Given the description of an element on the screen output the (x, y) to click on. 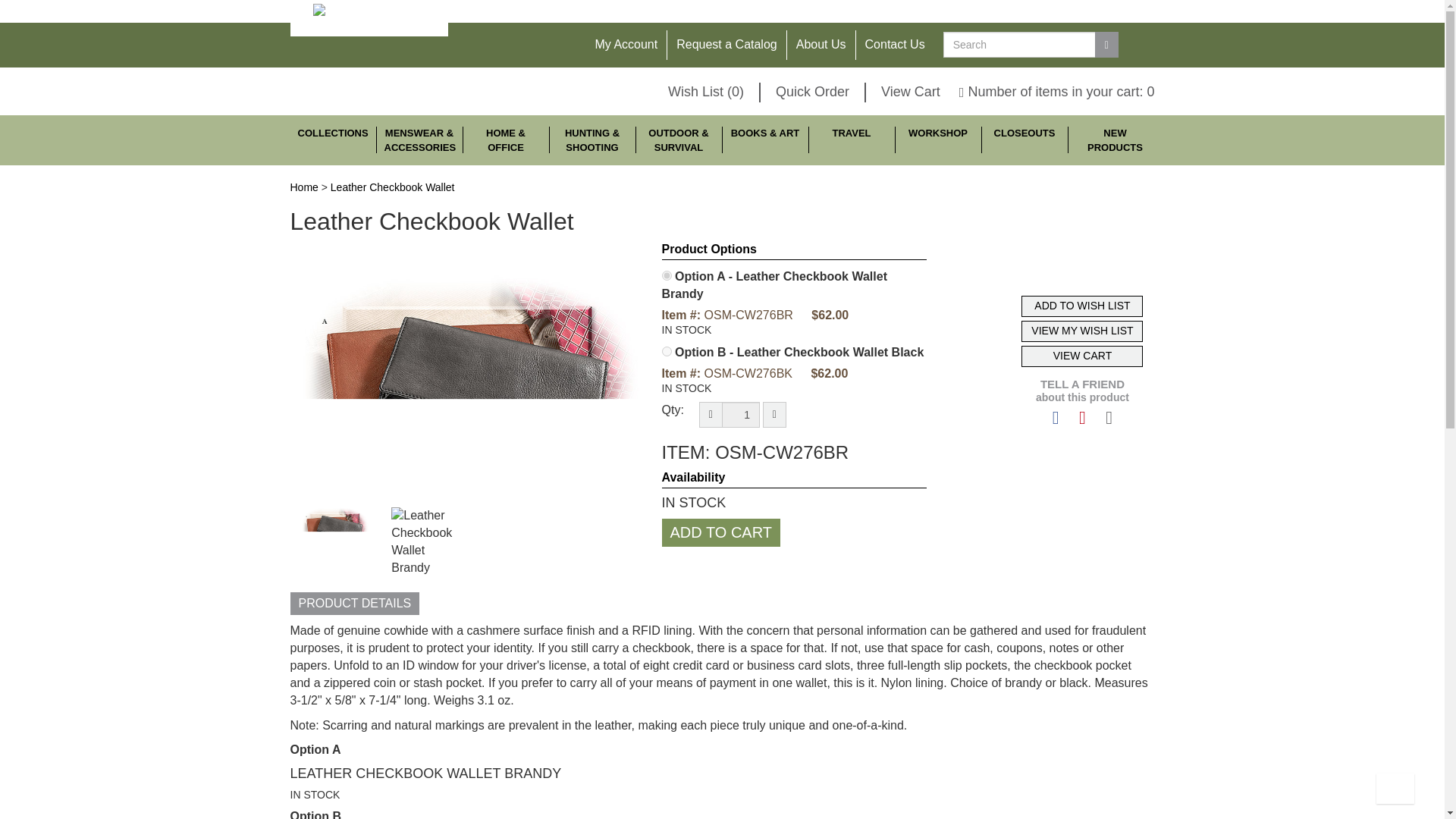
About Us (821, 44)
TRAVEL (850, 139)
My Account (625, 44)
Quick Order (812, 92)
Request a Catalog (726, 44)
WORKSHOP (937, 139)
NEW PRODUCTS (1114, 139)
Contact Us (895, 44)
View Cart (910, 91)
Number of items in your cart: 0 (1056, 91)
1 (741, 414)
CLOSEOUTS (1023, 139)
COLLECTIONS (332, 139)
Add to Wishlist (1082, 305)
